Given the description of an element on the screen output the (x, y) to click on. 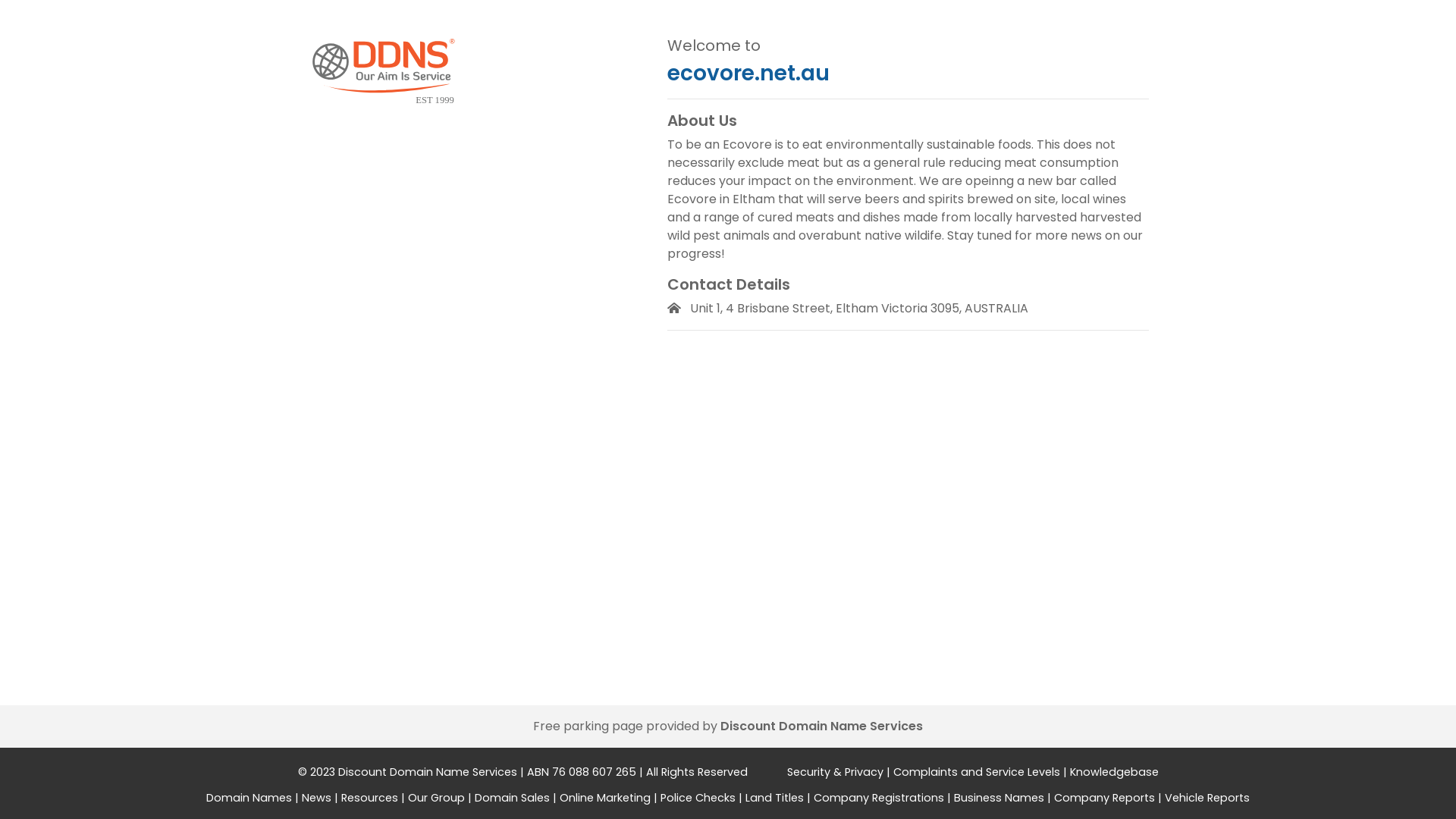
Knowledgebase Element type: text (1113, 771)
Our Group Element type: text (435, 797)
Domain Names Element type: text (248, 797)
Discount Domain Name Services Element type: text (821, 725)
Online Marketing Element type: text (604, 797)
Complaints and Service Levels Element type: text (976, 771)
Land Titles Element type: text (774, 797)
Business Names Element type: text (998, 797)
News Element type: text (316, 797)
Domain Sales Element type: text (511, 797)
Security & Privacy Element type: text (835, 771)
Company Reports Element type: text (1104, 797)
Resources Element type: text (369, 797)
Vehicle Reports Element type: text (1206, 797)
Company Registrations Element type: text (878, 797)
Police Checks Element type: text (697, 797)
